Given the description of an element on the screen output the (x, y) to click on. 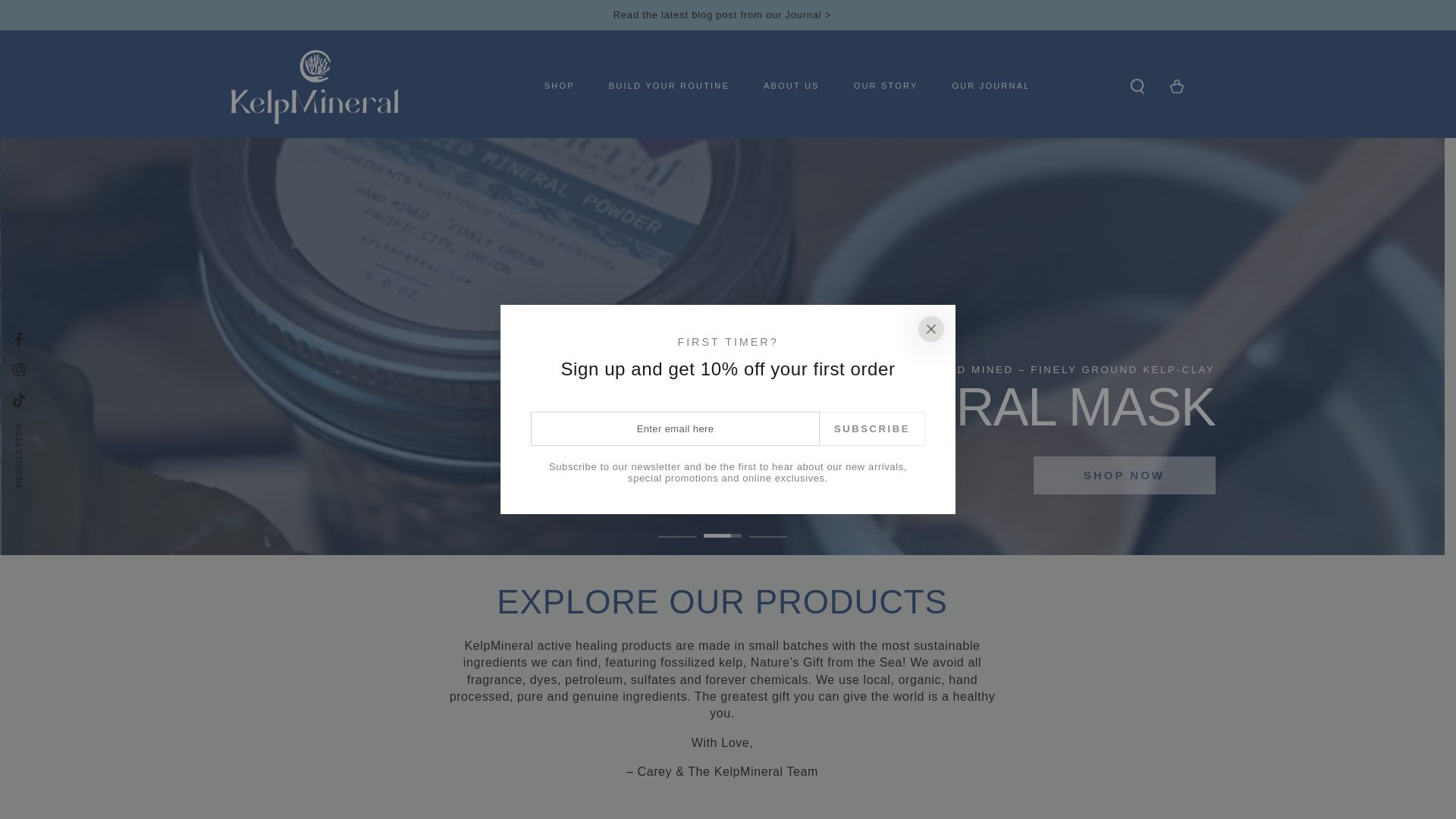
BUILD YOUR ROUTINE (668, 86)
ABOUT US (791, 86)
View slide 2 (722, 524)
OUR JOURNAL (990, 86)
SKIP TO CONTENT (67, 14)
View slide 1 (676, 524)
OUR STORY (886, 86)
View slide 3 (768, 524)
SHOP (559, 86)
SHOP NOW (1123, 475)
